Given the description of an element on the screen output the (x, y) to click on. 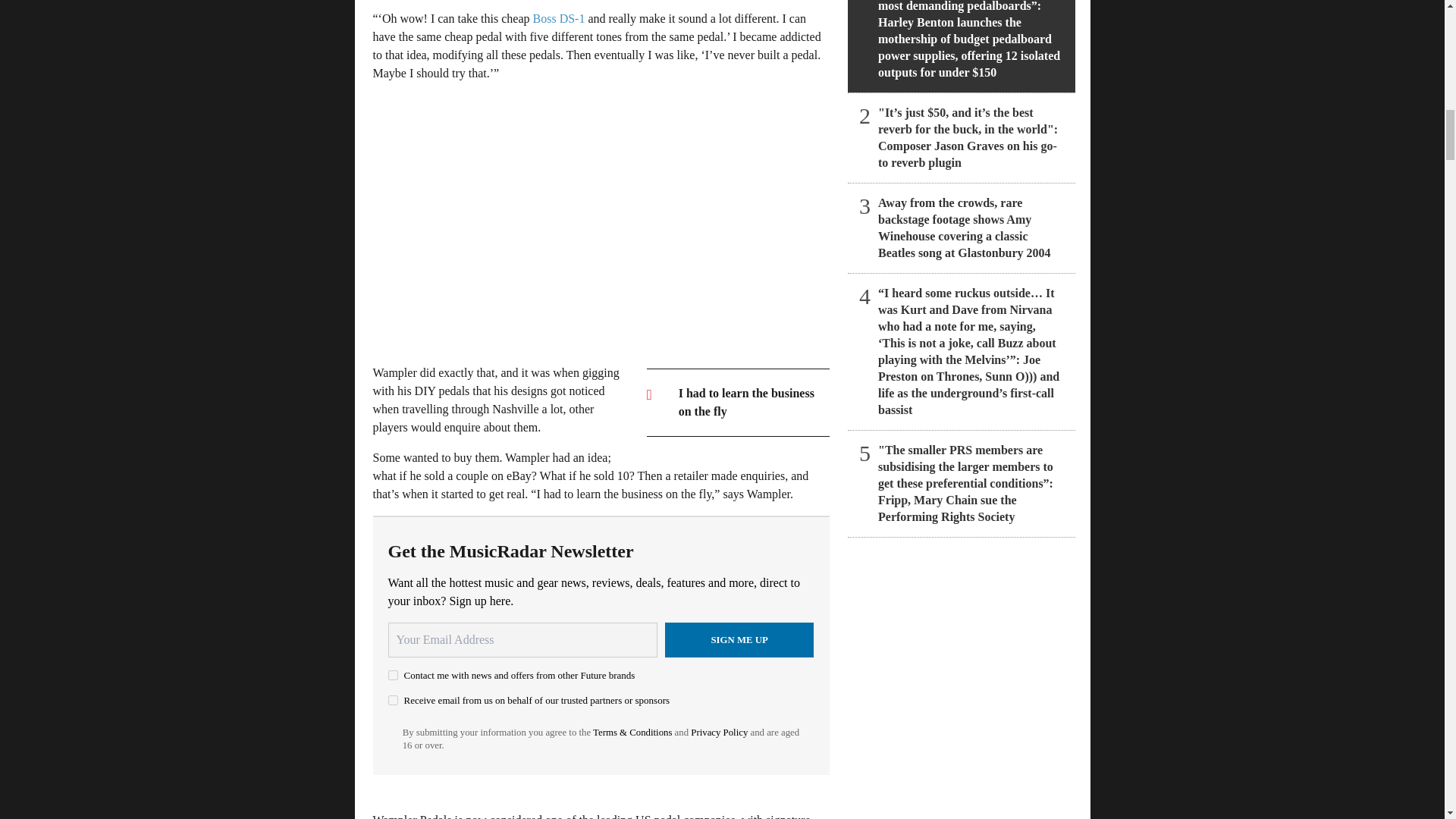
Sign me up (739, 639)
on (392, 700)
on (392, 675)
